Given the description of an element on the screen output the (x, y) to click on. 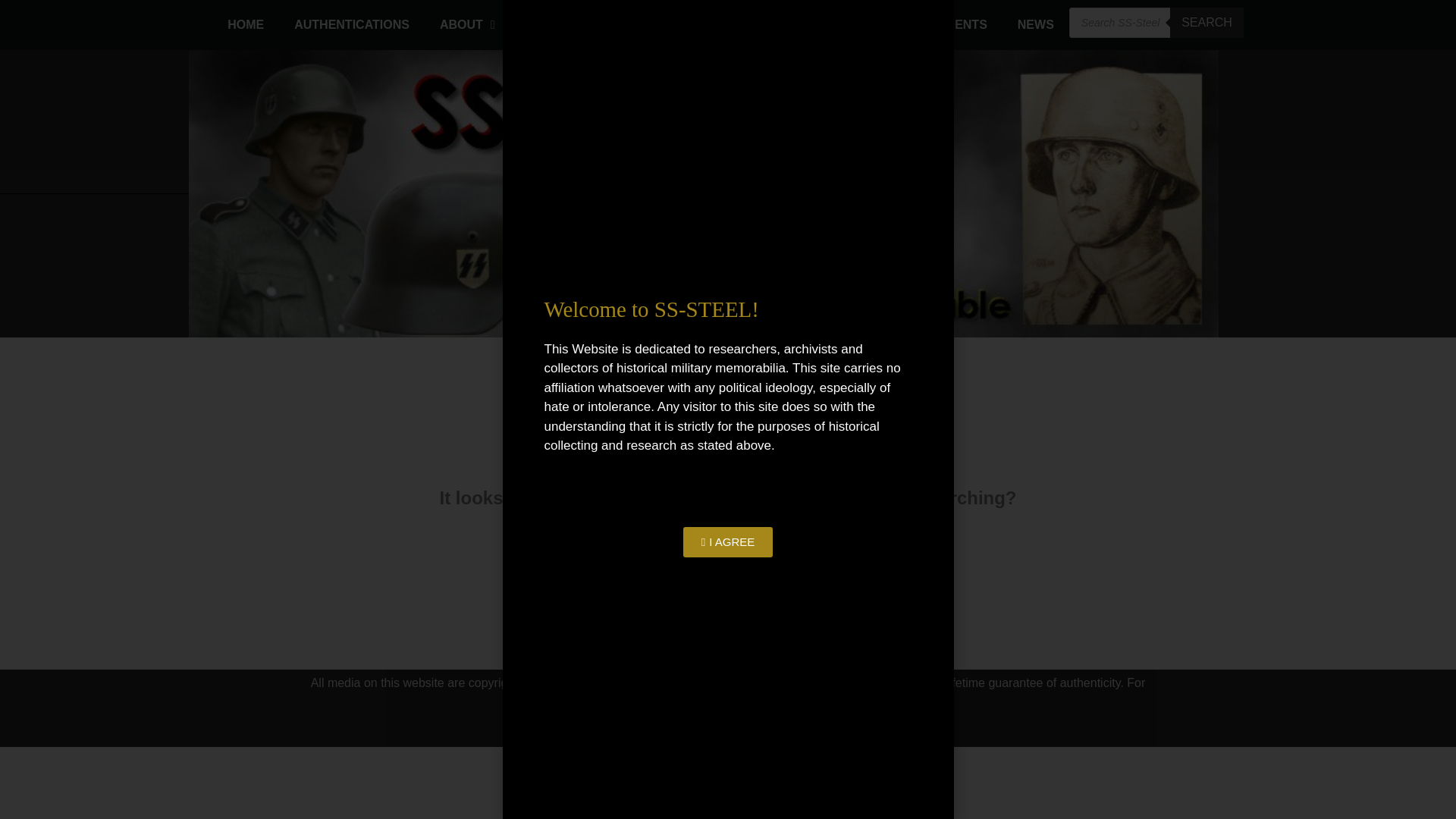
NEW LISTINGS (575, 24)
GALLERIES (695, 24)
AUTHENTICATIONS (352, 24)
Search (850, 559)
SEARCH (1206, 22)
Search (850, 559)
ABOUT (468, 24)
HOME (245, 24)
NEWS (1035, 24)
